Given the description of an element on the screen output the (x, y) to click on. 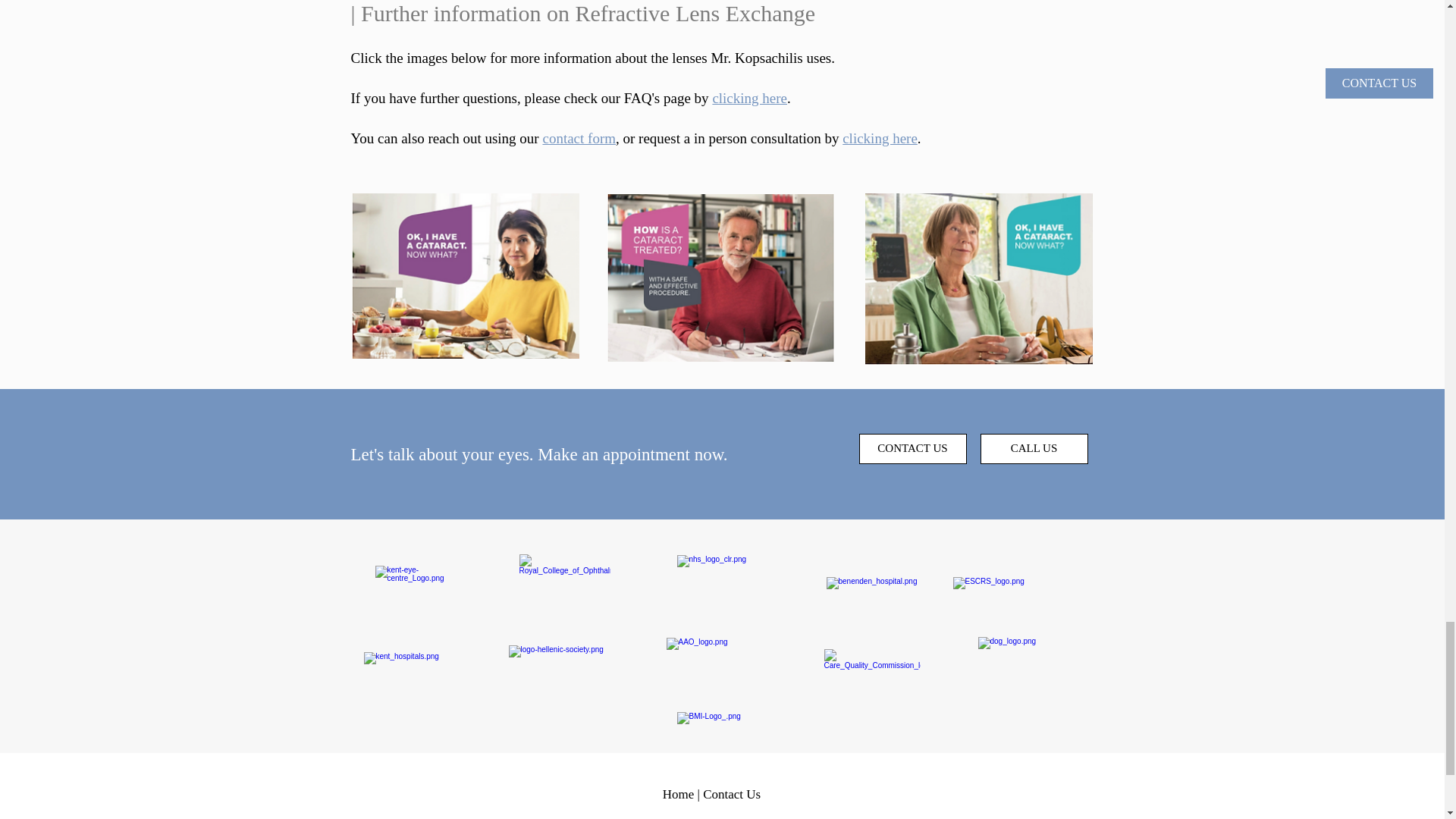
contact form (578, 138)
clicking here (749, 98)
Contact Us (731, 794)
EDOF Lenses (465, 275)
clicking here.  (883, 138)
Home (678, 794)
CONTACT US (912, 449)
CALL US (1033, 449)
